Given the description of an element on the screen output the (x, y) to click on. 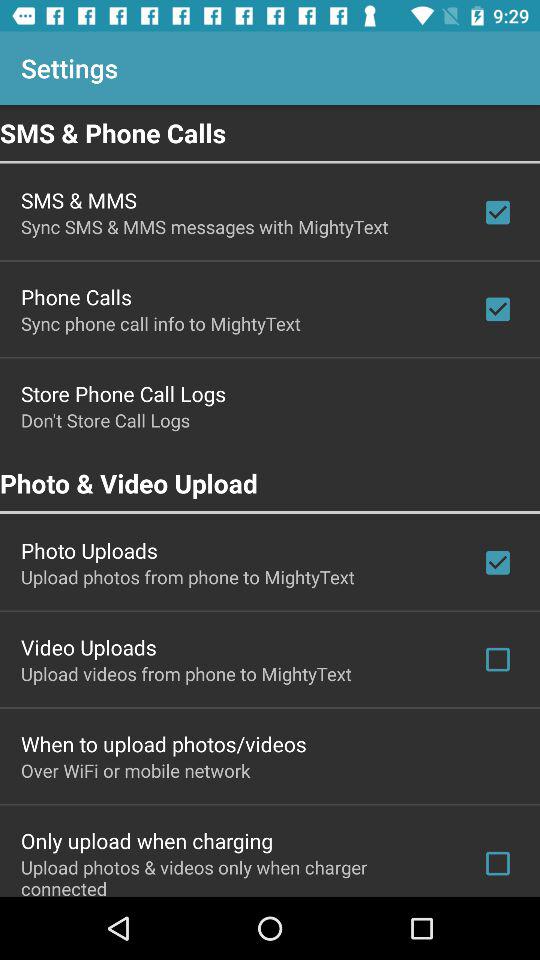
turn off over wifi or app (135, 770)
